Given the description of an element on the screen output the (x, y) to click on. 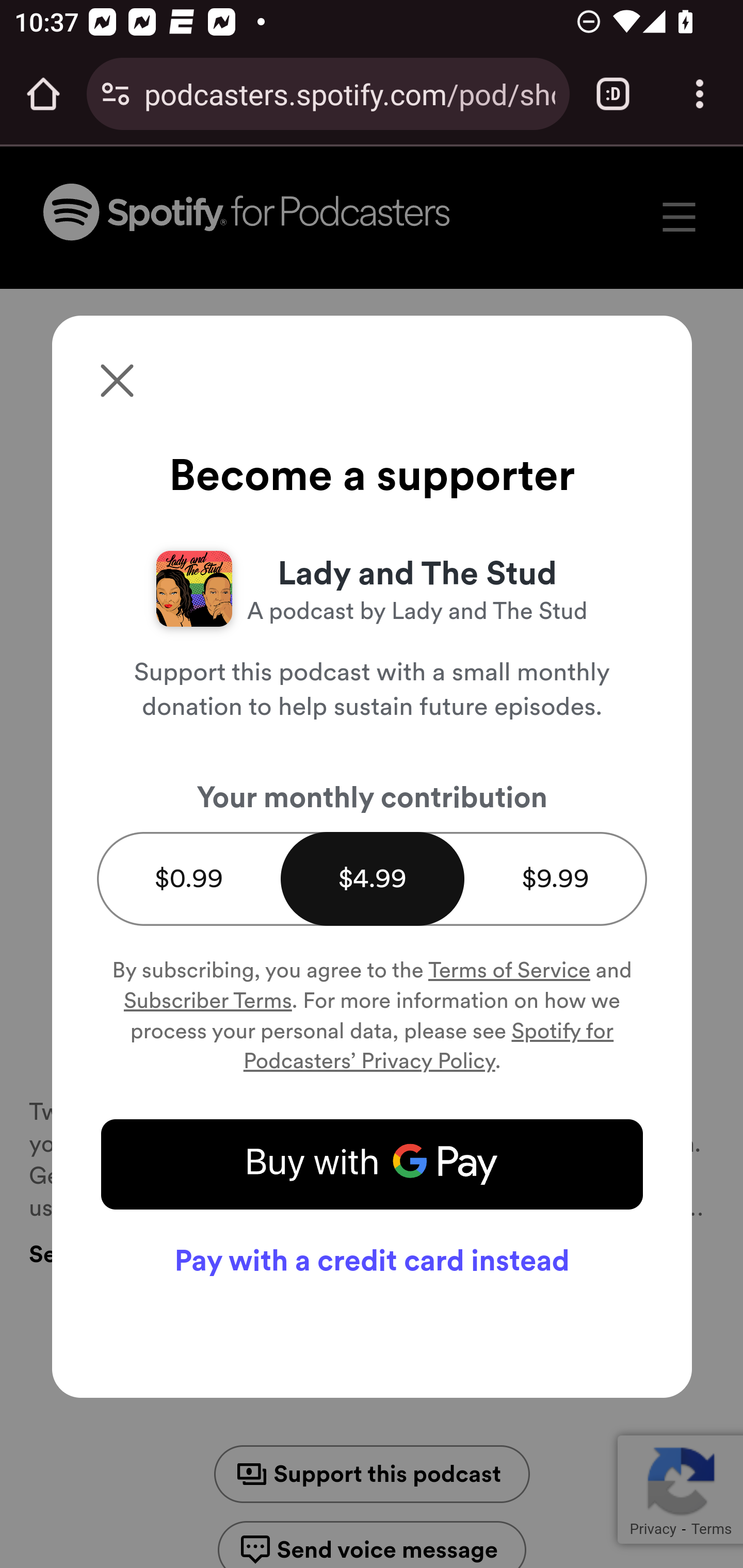
Open the home page (43, 93)
Connection is secure (115, 93)
Switch or close tabs (612, 93)
Customize and control Google Chrome (699, 93)
